Given the description of an element on the screen output the (x, y) to click on. 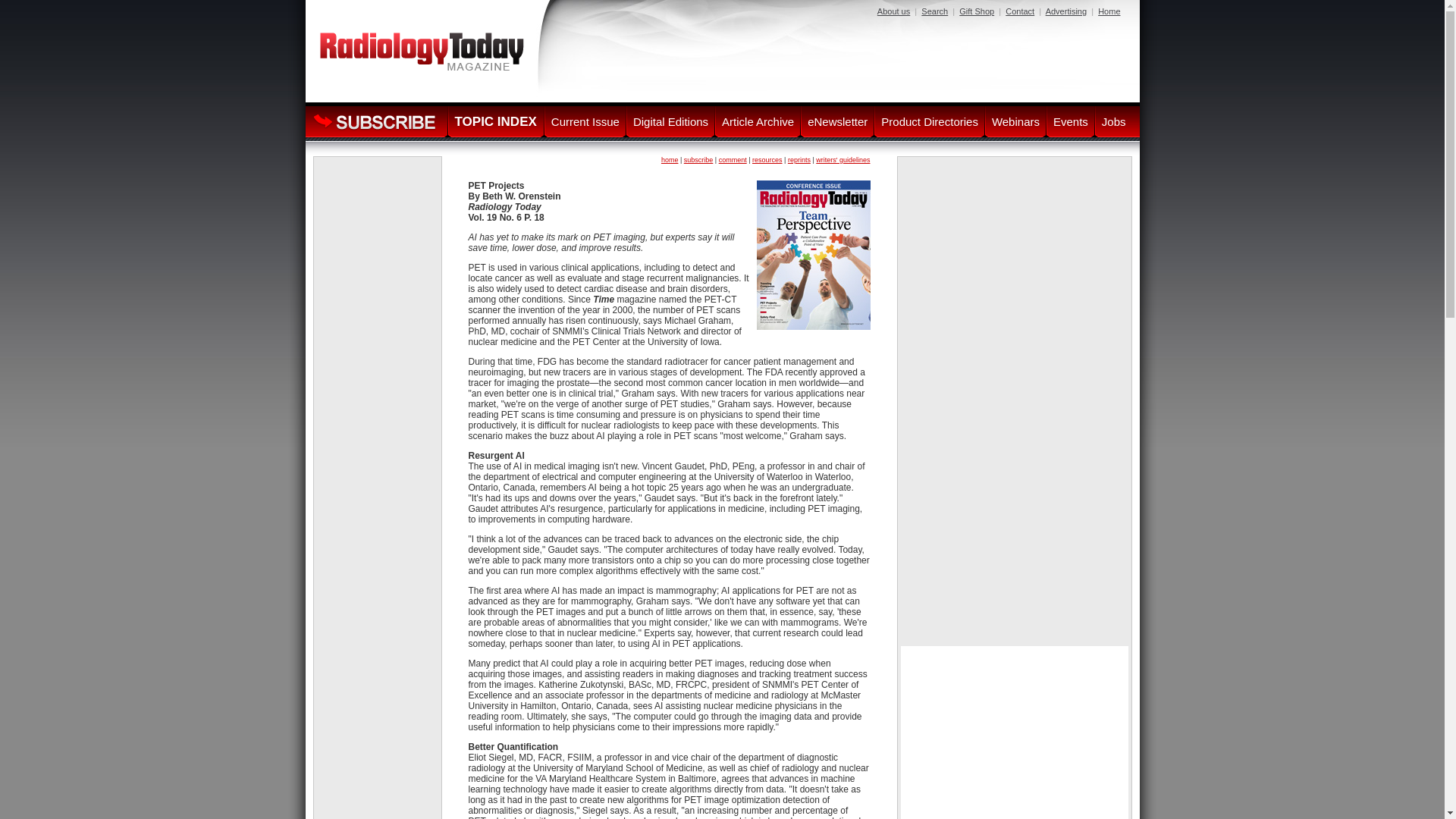
Jobs (1113, 121)
3rd party ad content (377, 206)
resources (767, 159)
Home (1108, 10)
reprints (798, 159)
3rd party ad content (1014, 403)
Product Directories (930, 121)
3rd party ad content (845, 56)
writers' guidelines (842, 159)
Gift Shop (976, 10)
